Given the description of an element on the screen output the (x, y) to click on. 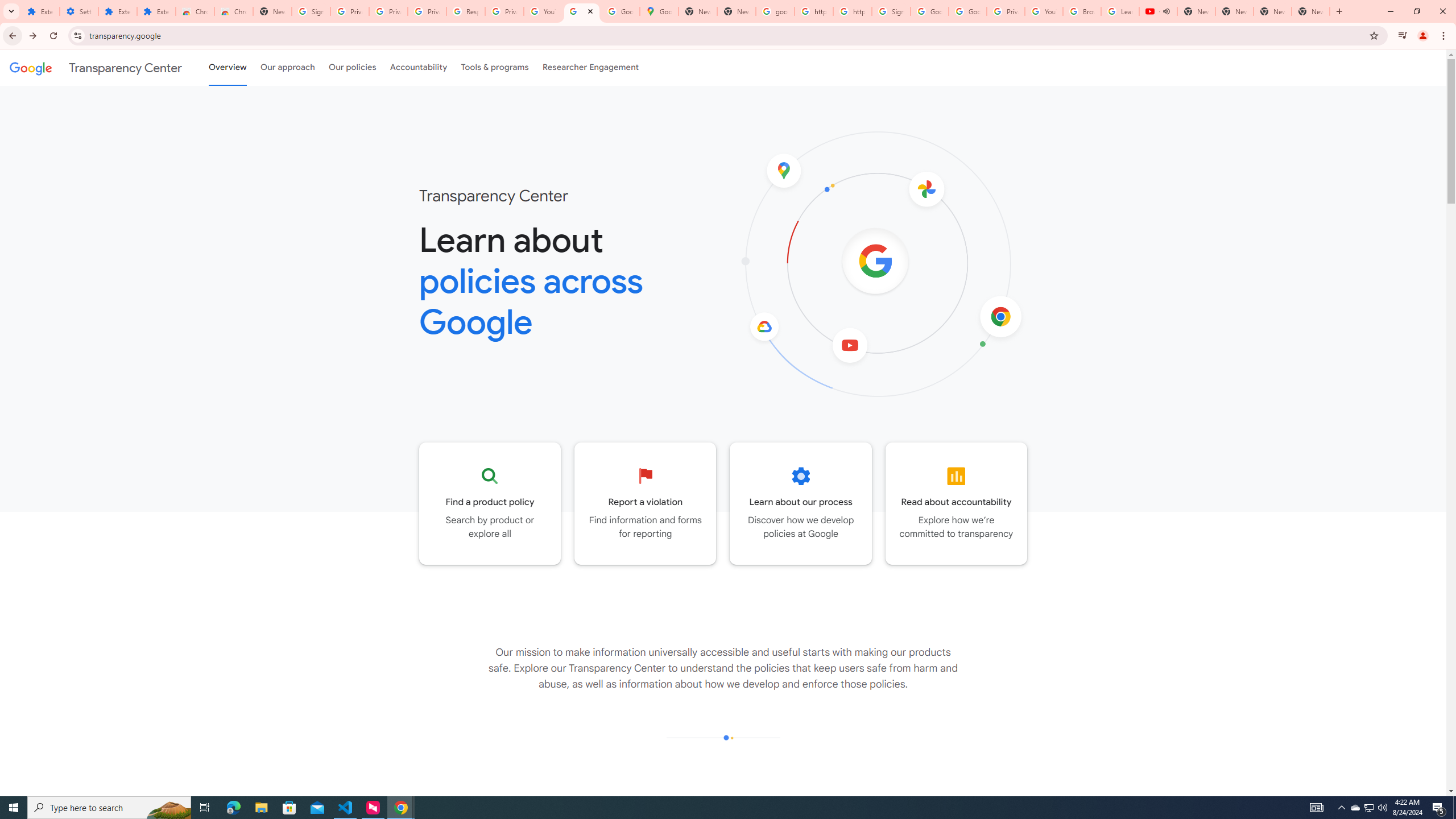
Accountability (418, 67)
Google Maps (659, 11)
Tools & programs (494, 67)
Go to the Accountability page (956, 503)
Transparency Center (95, 67)
Chrome Web Store (194, 11)
Go to the Product policy page (490, 503)
Our policies (351, 67)
